Given the description of an element on the screen output the (x, y) to click on. 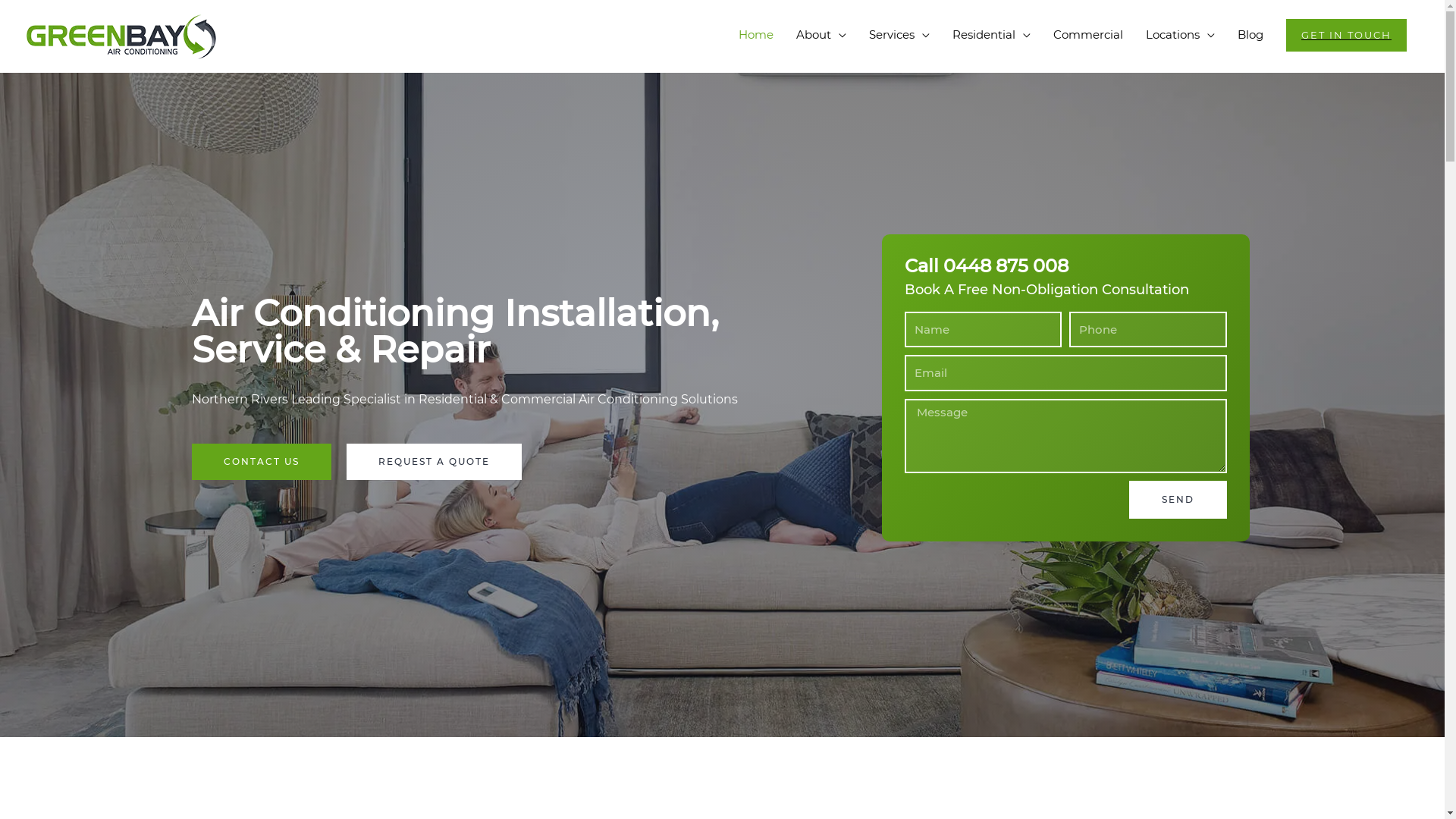
Locations Element type: text (1180, 34)
About Element type: text (820, 34)
Blog Element type: text (1250, 34)
GET IN TOUCH Element type: text (1346, 34)
Services Element type: text (899, 34)
Home Element type: text (755, 34)
Call 0448 875 008 Element type: text (985, 265)
CONTACT US Element type: text (260, 461)
Commercial Element type: text (1087, 34)
REQUEST A QUOTE Element type: text (432, 461)
SEND Element type: text (1177, 499)
Residential Element type: text (991, 34)
